Given the description of an element on the screen output the (x, y) to click on. 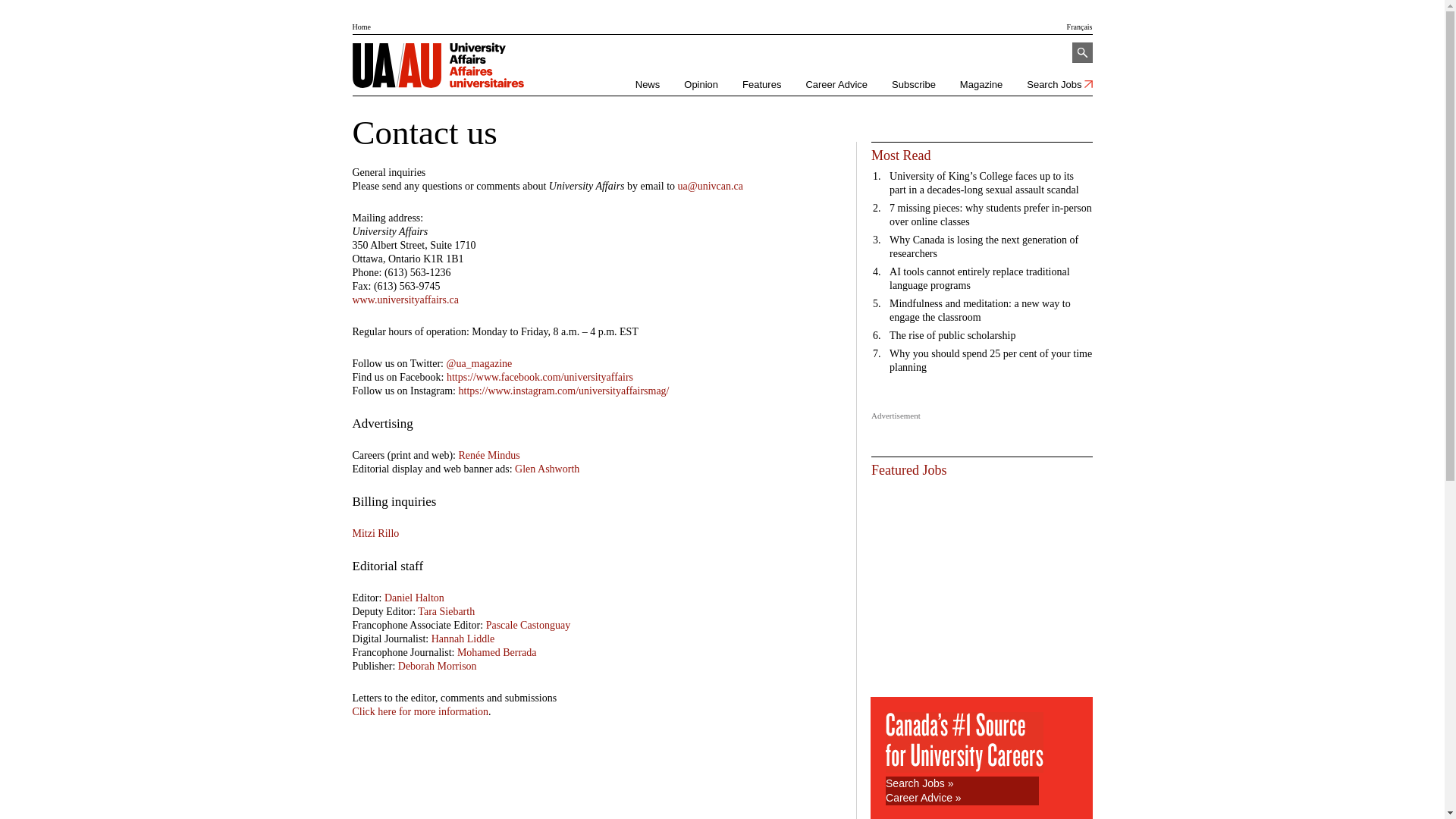
Search Jobs Element type: text (1059, 84)
Subscribe Element type: text (913, 84)
Why Canada is losing the next generation of researchers Element type: text (983, 246)
Hannah Liddle Element type: text (463, 638)
Search Element type: text (1082, 52)
Magazine Element type: text (981, 84)
Home Element type: text (360, 26)
Features Element type: text (761, 84)
https://www.instagram.com/universityaffairsmag/ Element type: text (563, 390)
Mohamed Berrada Element type: text (496, 652)
Glen Ashworth Element type: text (546, 468)
Tara Siebarth Element type: text (445, 611)
Opinion Element type: text (701, 84)
Mitzi Rillo Element type: text (374, 533)
Why you should spend 25 per cent of your time planning Element type: text (990, 360)
@ua_magazine Element type: text (478, 363)
The rise of public scholarship Element type: text (952, 335)
News Element type: text (647, 84)
Daniel Halton Element type: text (414, 597)
www.universityaffairs.ca Element type: text (404, 299)
Click here for more information Element type: text (419, 711)
ua@univcan.ca Element type: text (710, 185)
Career Advice Element type: text (836, 84)
https://www.facebook.com/universityaffairs Element type: text (539, 376)
Pascale Castonguay Element type: text (528, 624)
Deborah Morrison Element type: text (437, 665)
